Given the description of an element on the screen output the (x, y) to click on. 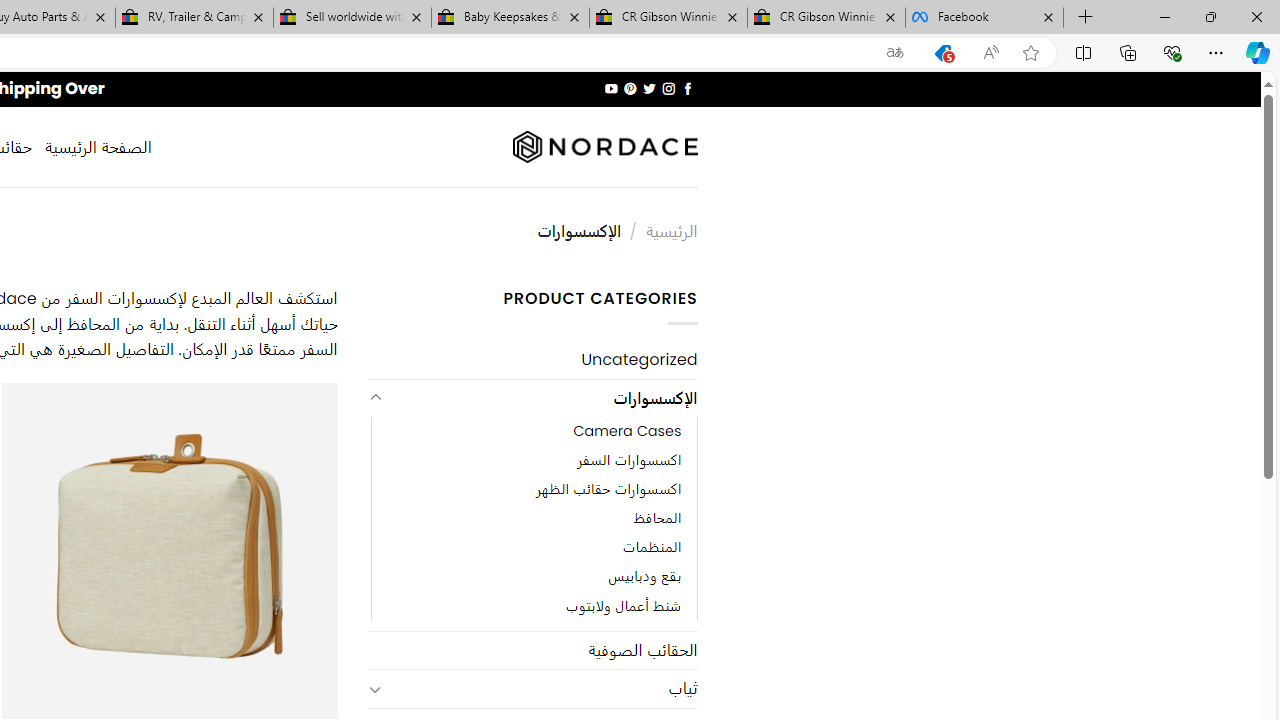
Uncategorized (532, 359)
Uncategorized (532, 359)
Camera Cases (627, 431)
